Given the description of an element on the screen output the (x, y) to click on. 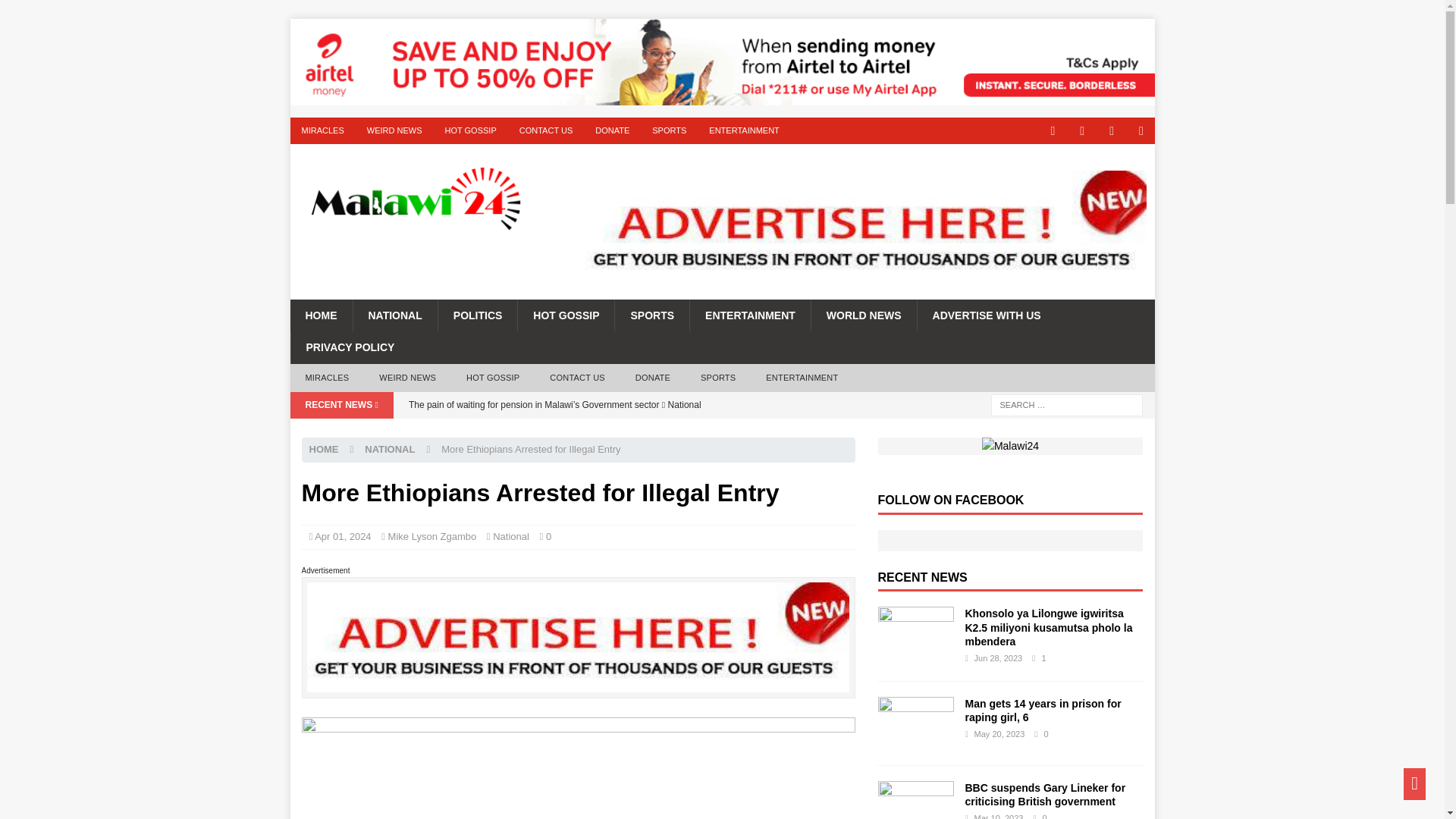
ENTERTAINMENT (802, 378)
HOT GOSSIP (469, 130)
MIRACLES (322, 130)
DONATE (652, 378)
HOME (323, 449)
ADVERTISE WITH US (987, 315)
World News (863, 315)
MIRACLES (326, 378)
CONTACT US (577, 378)
Sports (651, 315)
Hot Gossip (565, 315)
WORLD NEWS (863, 315)
SPORTS (651, 315)
DONATE (611, 130)
WEIRD NEWS (407, 378)
